Given the description of an element on the screen output the (x, y) to click on. 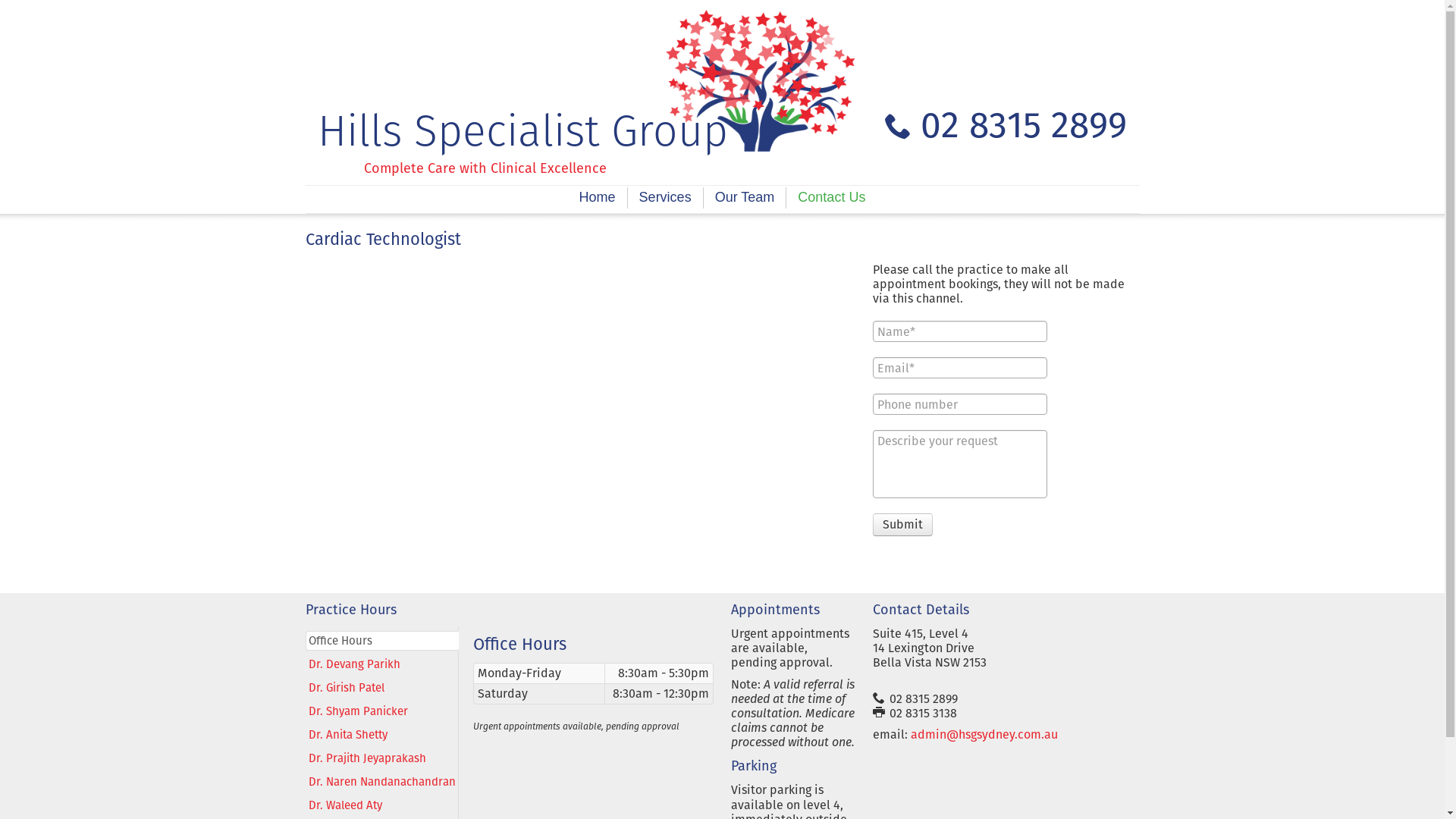
Home Element type: text (597, 197)
Dr. Waleed Aty Element type: text (381, 805)
Contact Us Element type: text (830, 197)
Services Element type: text (664, 197)
Dr. Shyam Panicker Element type: text (381, 711)
Dr. Anita Shetty Element type: text (381, 734)
Office Hours Element type: text (381, 640)
Dr. Girish Patel Element type: text (381, 687)
admin@hsgsydney.com.au Element type: text (983, 734)
Submit Element type: text (902, 524)
Dr. Naren Nandanachandran Element type: text (381, 781)
Dr. Prajith Jeyaprakash Element type: text (381, 758)
02 8315 2899 Element type: text (1005, 124)
Our Team Element type: text (744, 197)
Dr. Devang Parikh Element type: text (381, 664)
